Given the description of an element on the screen output the (x, y) to click on. 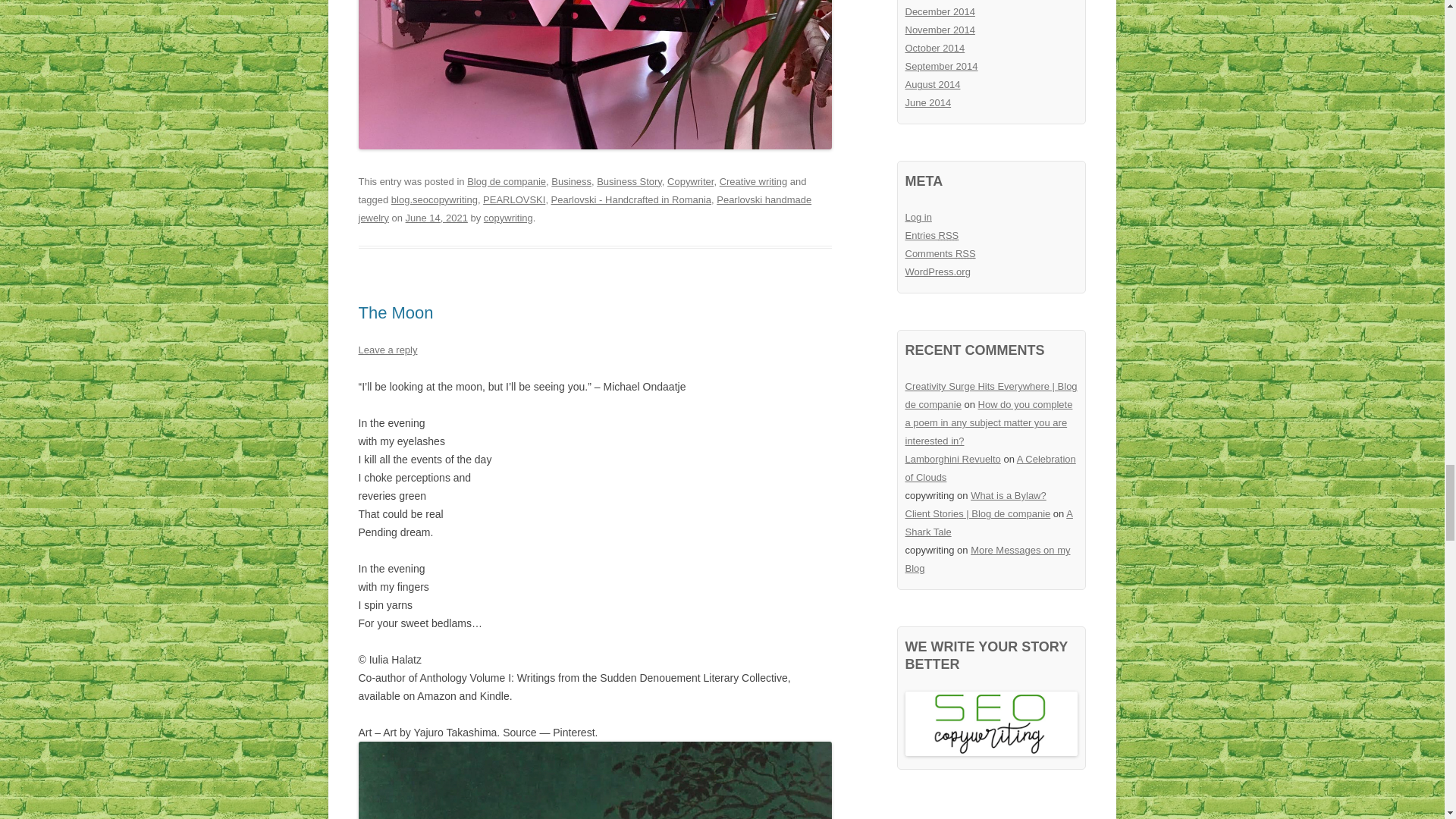
Really Simple Syndication (949, 235)
View all posts by copywriting (507, 217)
9:34 am (436, 217)
